Given the description of an element on the screen output the (x, y) to click on. 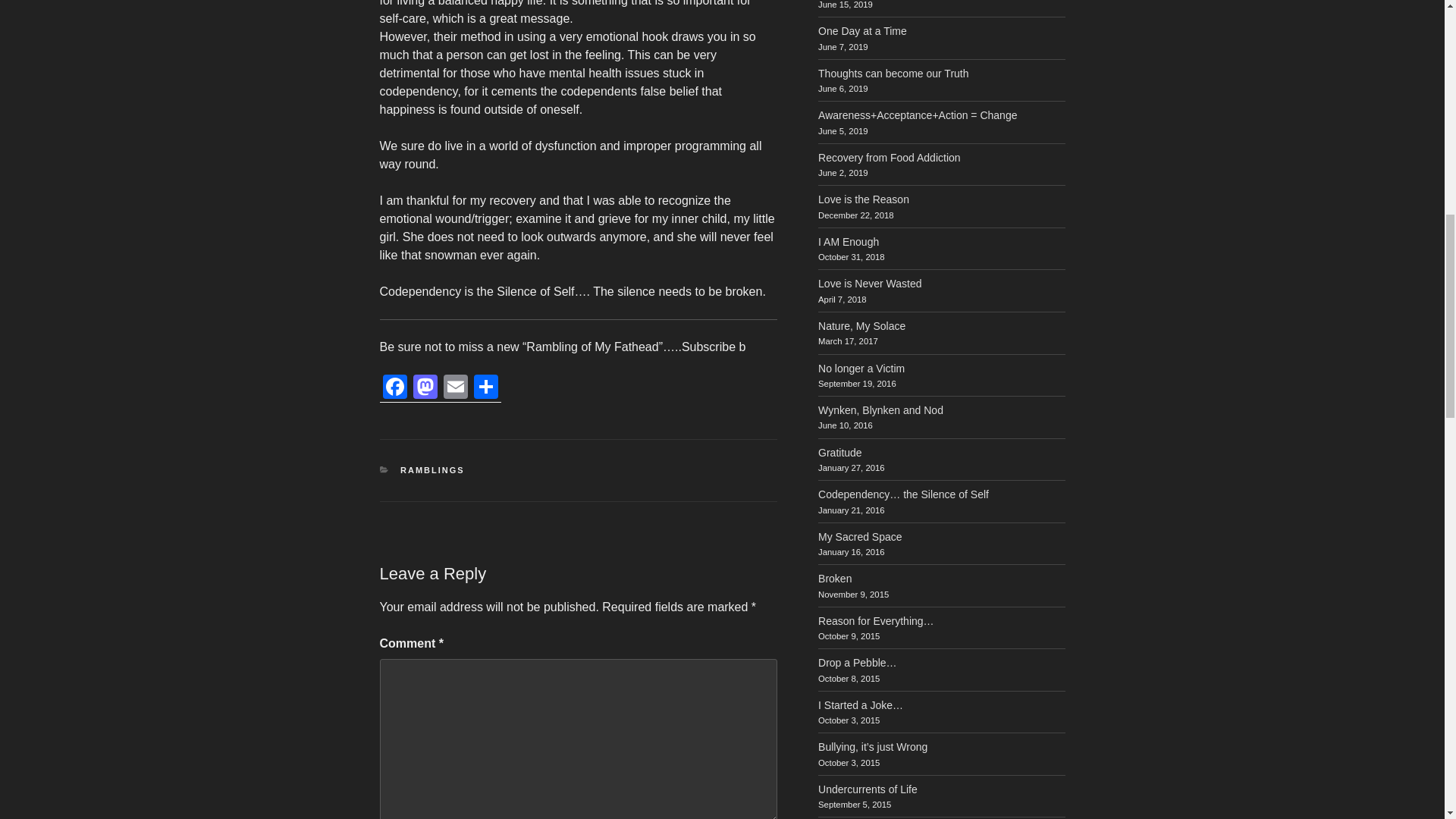
One Day at a Time (862, 30)
Mastodon (424, 388)
RAMBLINGS (432, 470)
Thoughts can become our Truth (893, 73)
Facebook (393, 388)
Mastodon (424, 388)
Email (454, 388)
Facebook (393, 388)
Email (454, 388)
